Given the description of an element on the screen output the (x, y) to click on. 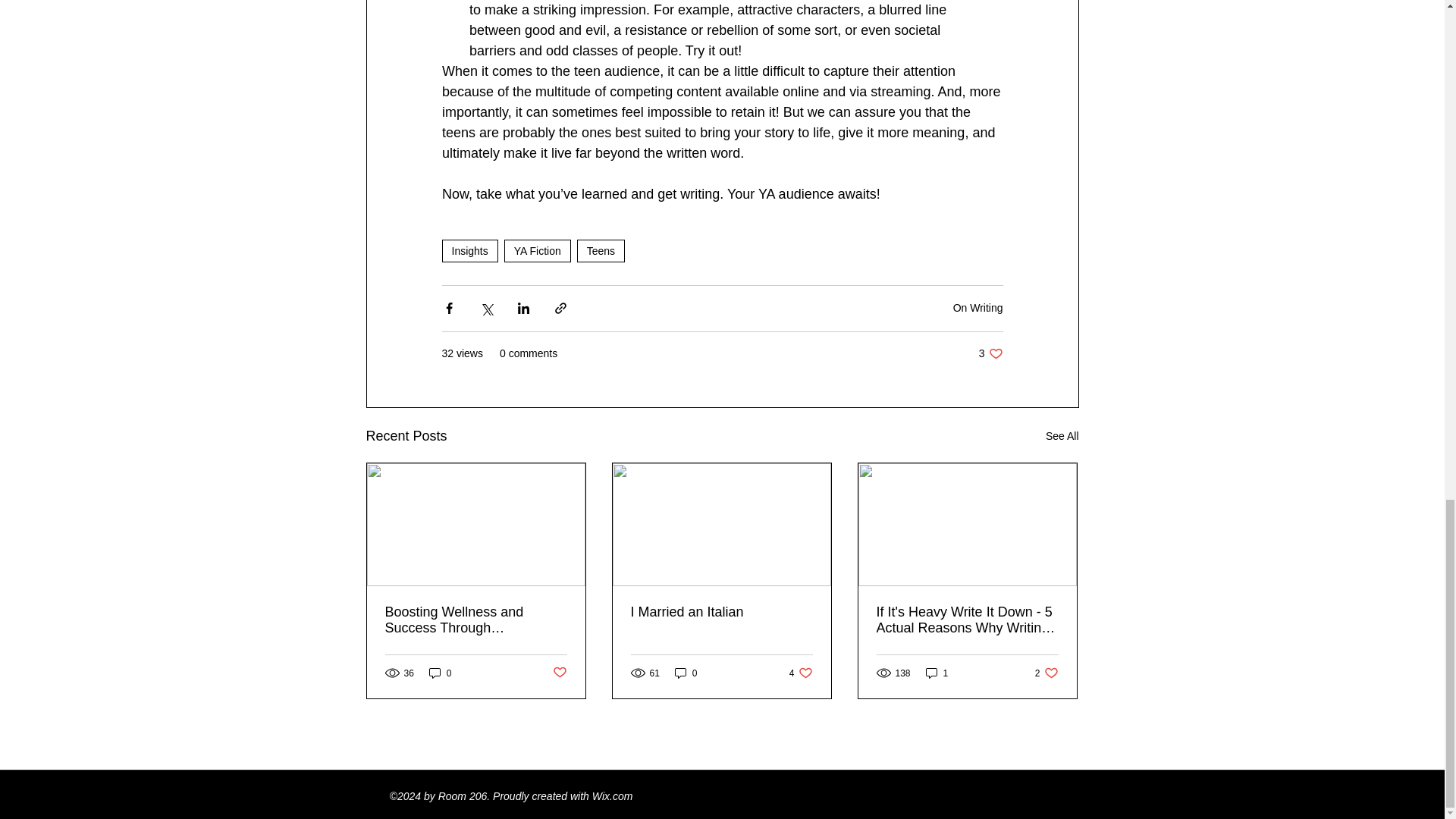
0 (990, 353)
See All (440, 672)
Insights (1061, 436)
On Writing (469, 250)
Teens (978, 307)
I Married an Italian (600, 250)
Post not marked as liked (800, 672)
YA Fiction (721, 611)
